Given the description of an element on the screen output the (x, y) to click on. 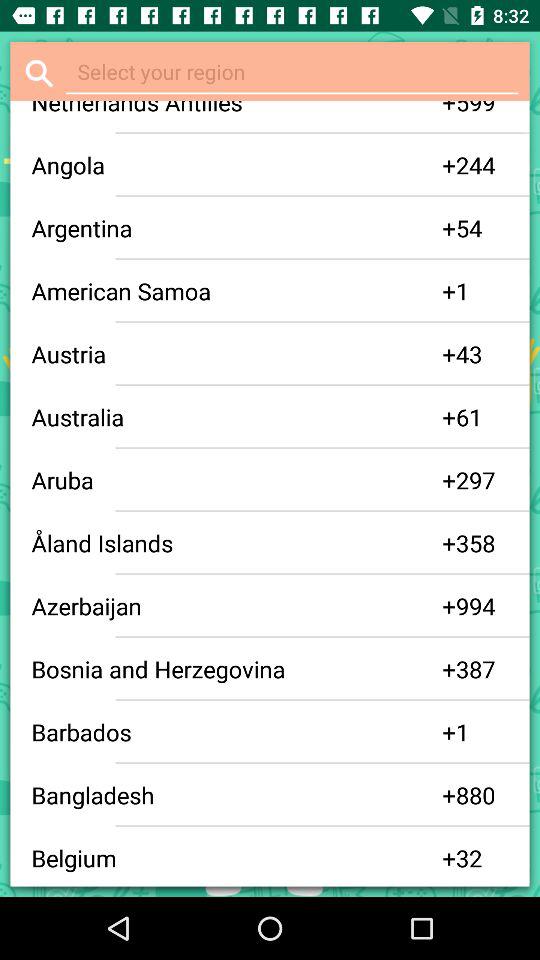
press the icon next to the 599 (449, 109)
